Given the description of an element on the screen output the (x, y) to click on. 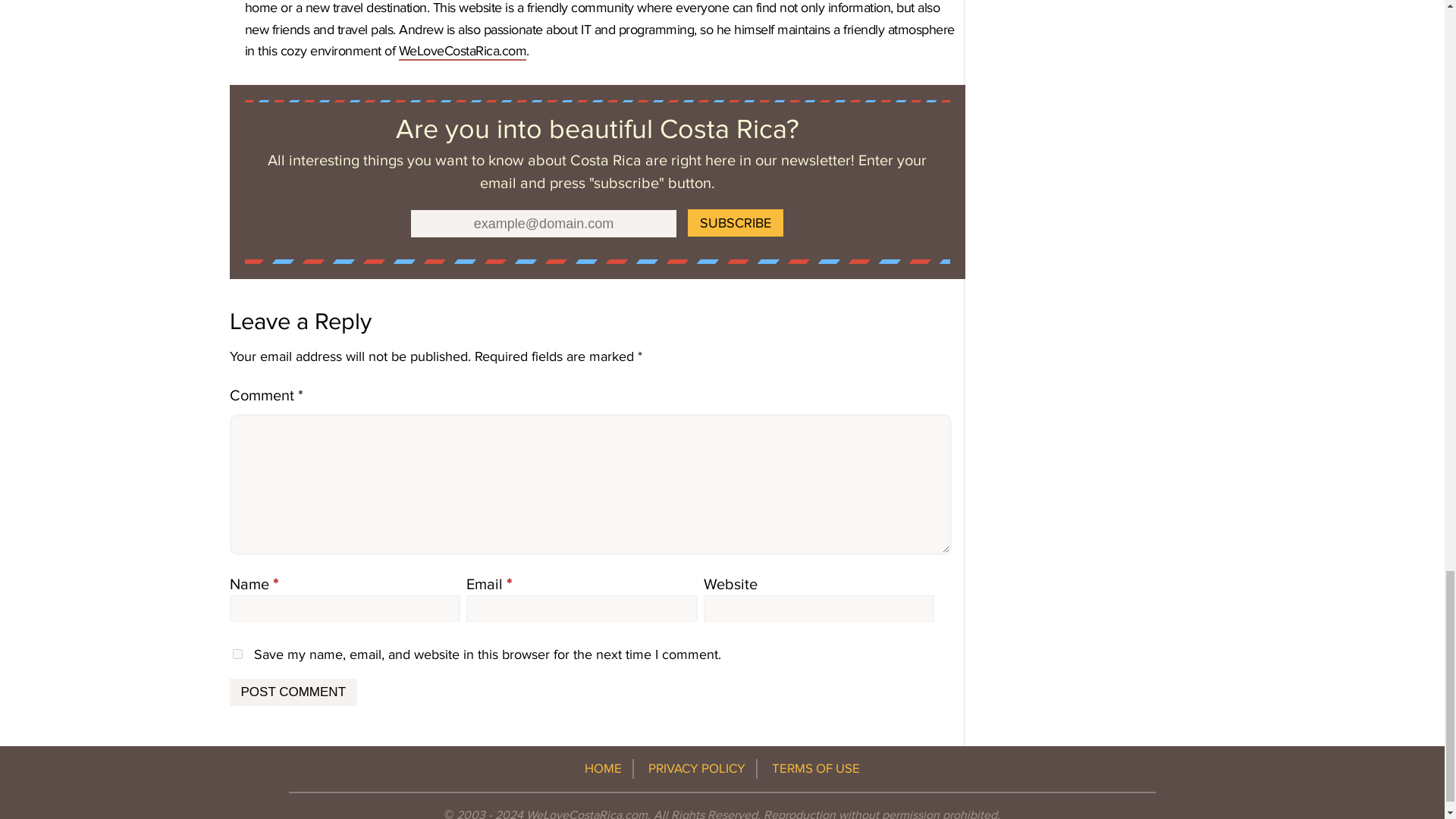
Post Comment (292, 691)
yes (236, 654)
